Given the description of an element on the screen output the (x, y) to click on. 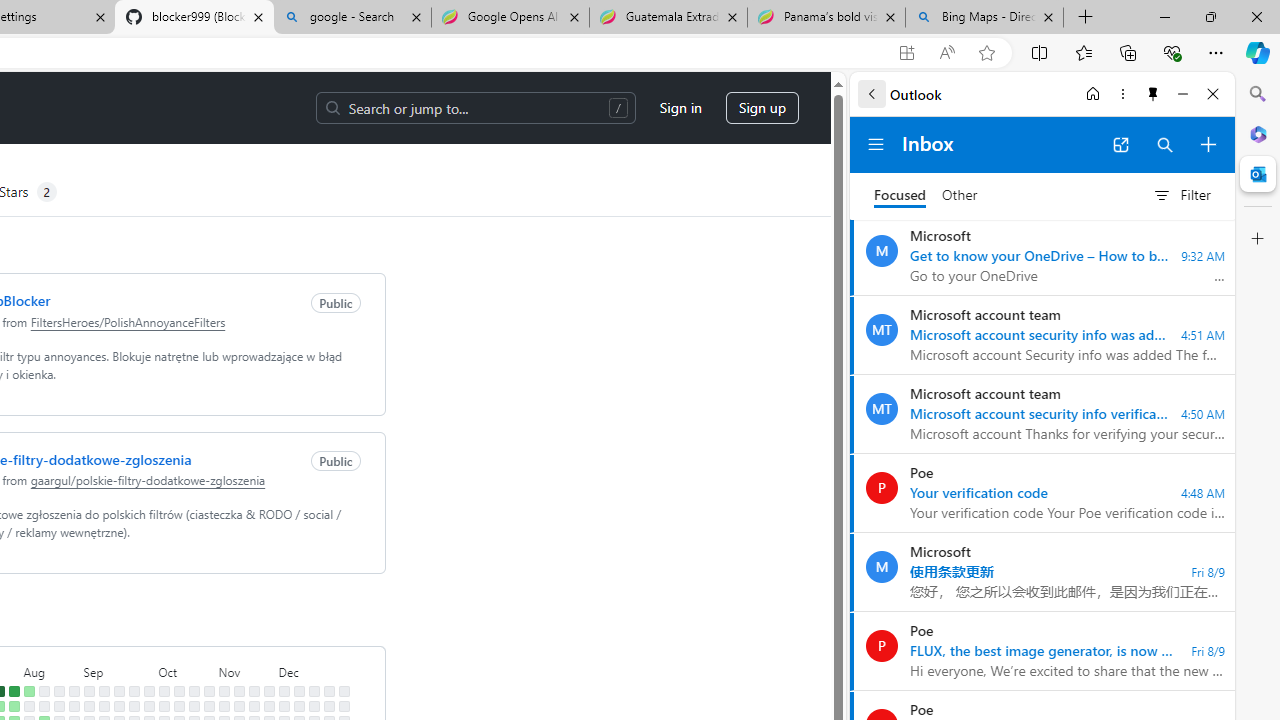
1 contribution on July 29th. (13, 706)
No contributions on September 1st. (88, 691)
7 contributions on July 28th. (13, 691)
No contributions on August 18th. (58, 691)
gaargul/polskie-filtry-dodatkowe-zgloszenia (147, 480)
No contributions on November 10th. (238, 691)
